Given the description of an element on the screen output the (x, y) to click on. 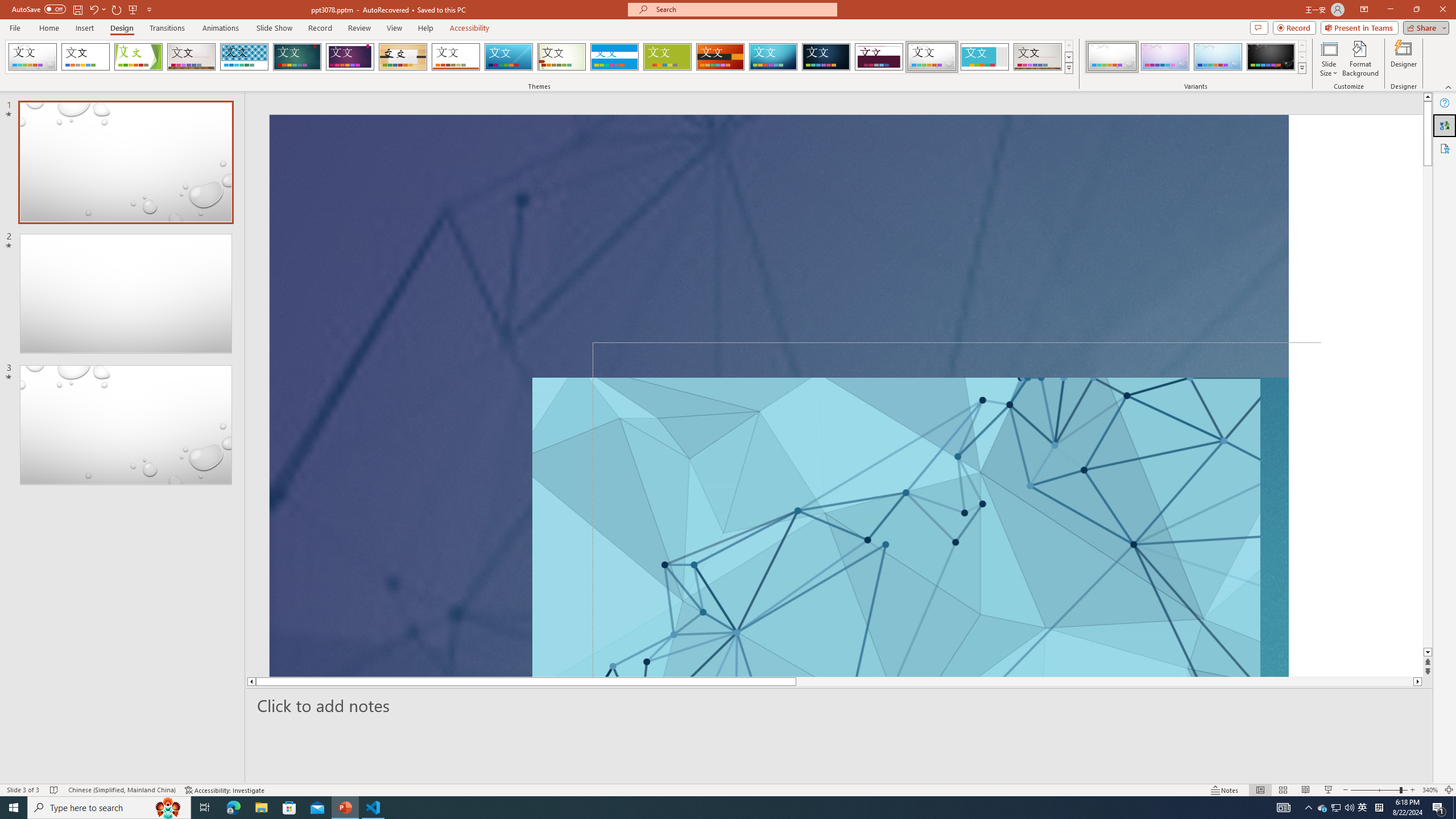
Variants (1301, 67)
Format Background (1360, 58)
Basis (667, 56)
Droplet (931, 56)
Office Theme (85, 56)
Gallery (1037, 56)
AutomationID: ThemeVariantsGallery (1195, 56)
